Given the description of an element on the screen output the (x, y) to click on. 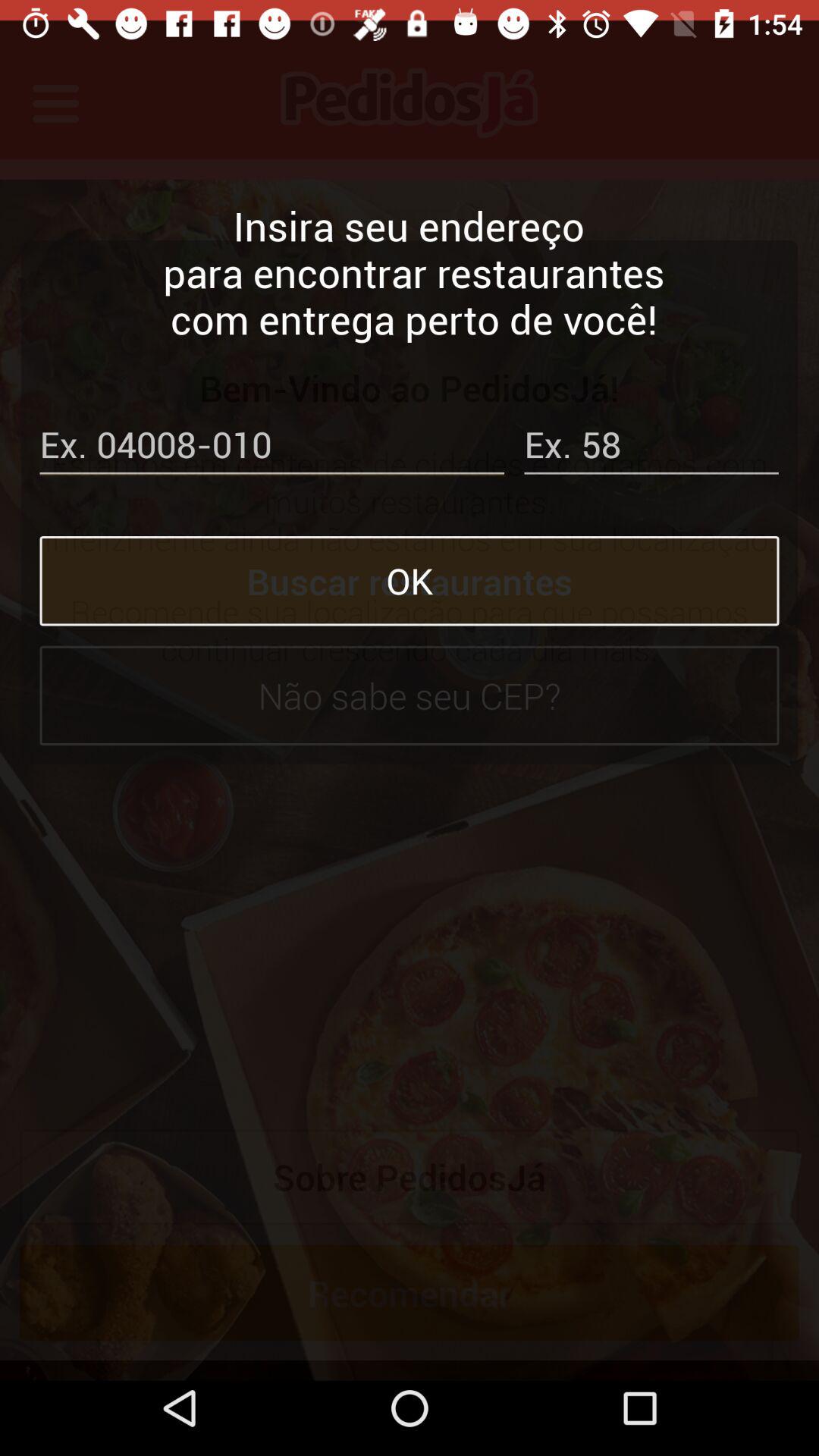
enter your postcode (271, 427)
